Given the description of an element on the screen output the (x, y) to click on. 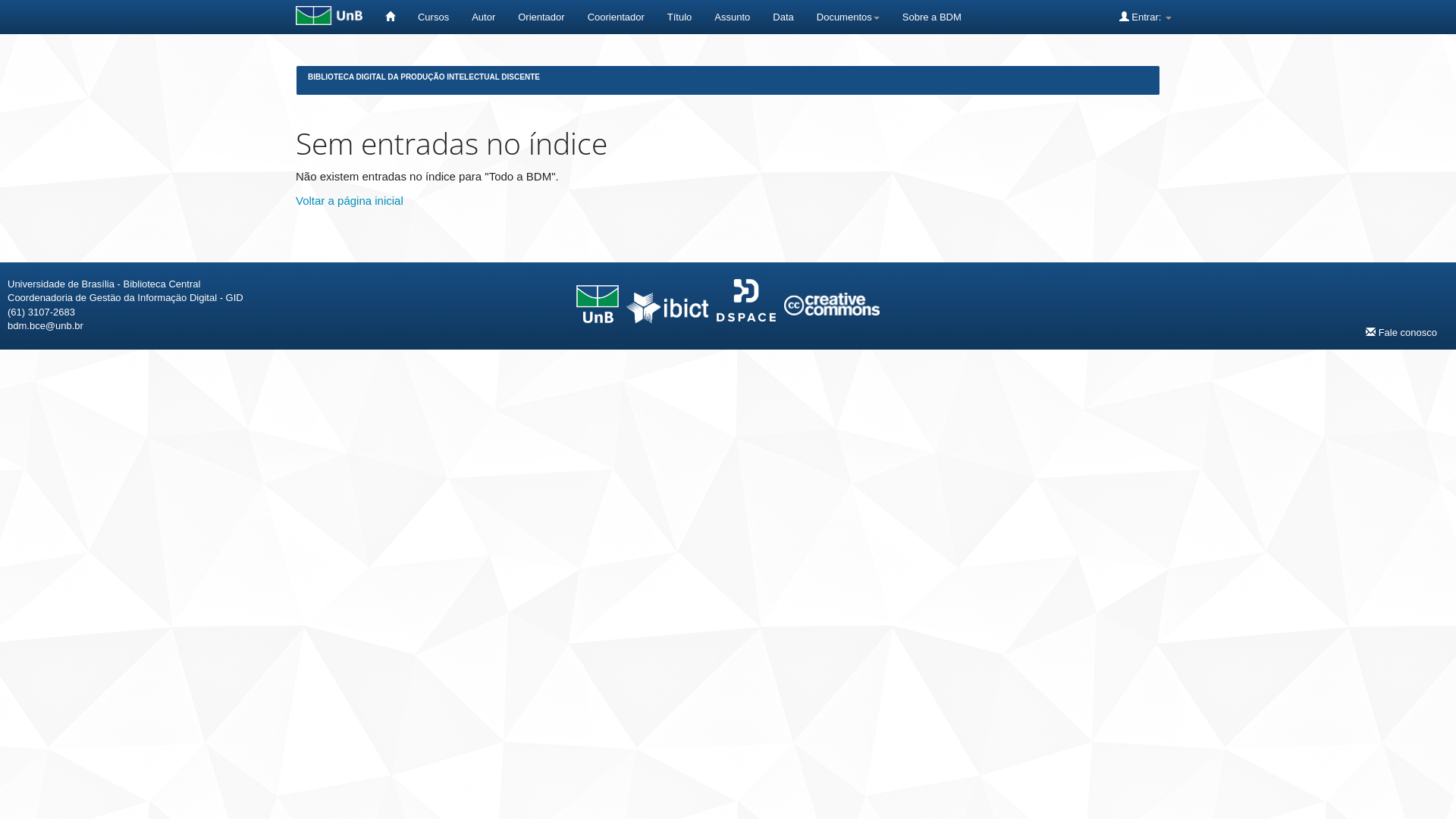
Orientador Element type: text (540, 17)
Data Element type: text (782, 17)
Entrar: Element type: text (1145, 17)
Autor Element type: text (483, 17)
Assunto Element type: text (731, 17)
Sobre a BDM Element type: text (931, 17)
Fale conosco Element type: text (1401, 332)
Cursos Element type: text (433, 17)
Documentos Element type: text (848, 17)
Coorientador Element type: text (615, 17)
